Given the description of an element on the screen output the (x, y) to click on. 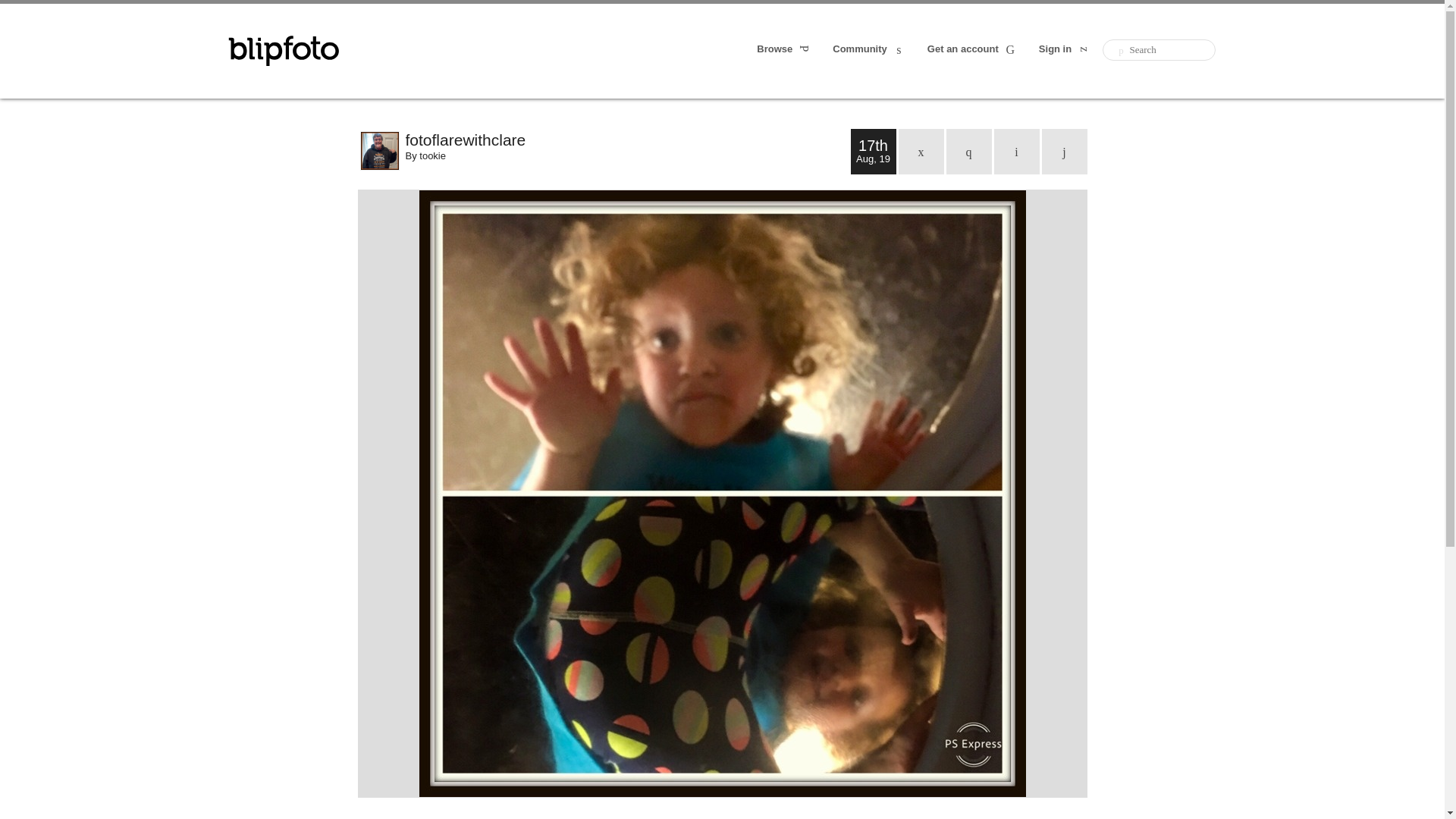
calendar (920, 151)
tookie (432, 155)
One year ago (968, 151)
Community (868, 50)
Previous (1015, 151)
fotoflarewithclare (627, 139)
Browse (783, 50)
Get an account (972, 50)
Next (1064, 151)
Sign in (1064, 50)
